Given the description of an element on the screen output the (x, y) to click on. 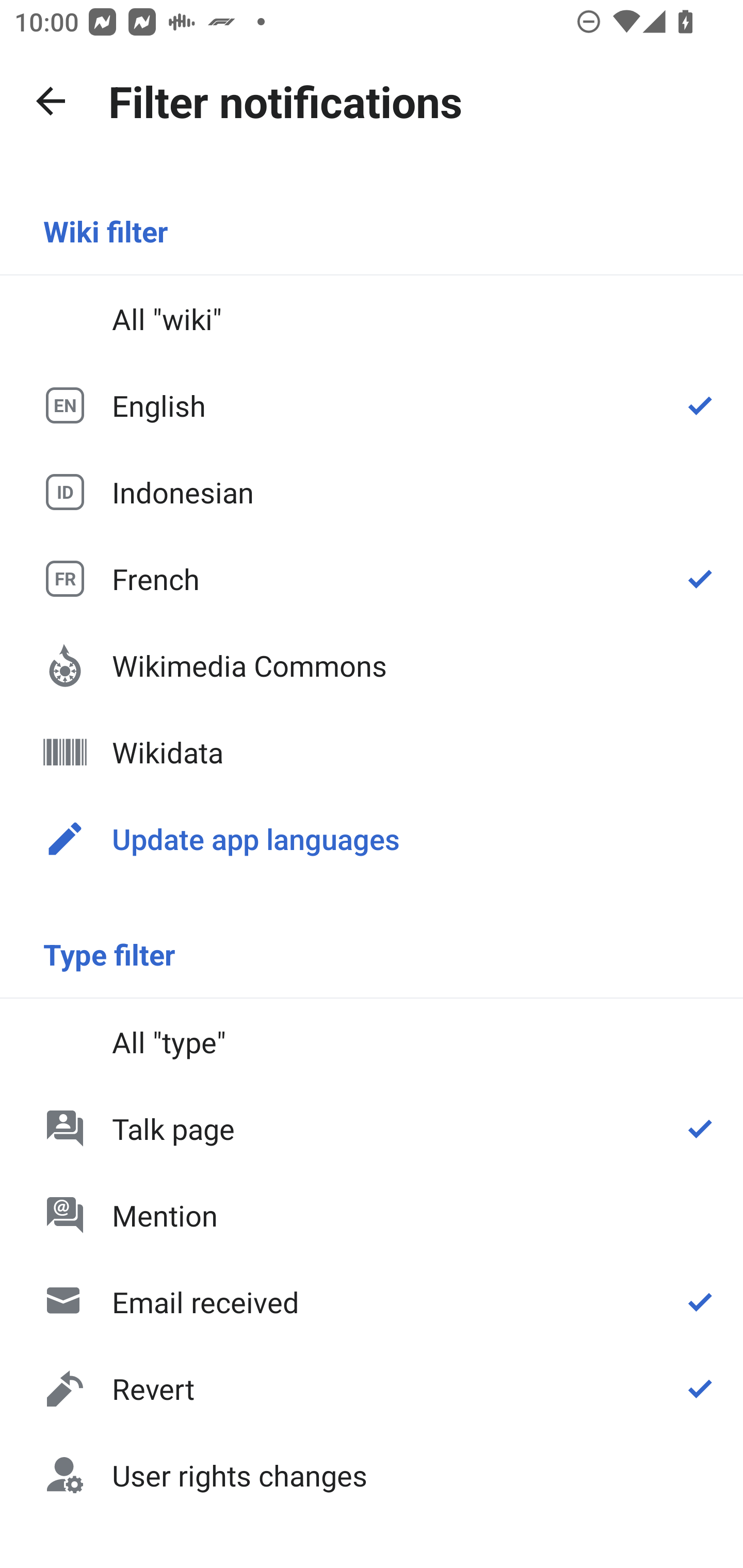
Navigate up (50, 101)
All "wiki" (371, 318)
EN English (371, 405)
ID Indonesian (371, 491)
FR French (371, 578)
Wikimedia Commons (371, 665)
Wikidata (371, 751)
Update app languages (371, 837)
All "type" (371, 1041)
Talk page (371, 1128)
Mention (371, 1215)
Email received (371, 1302)
Revert (371, 1388)
User rights changes (371, 1474)
